Given the description of an element on the screen output the (x, y) to click on. 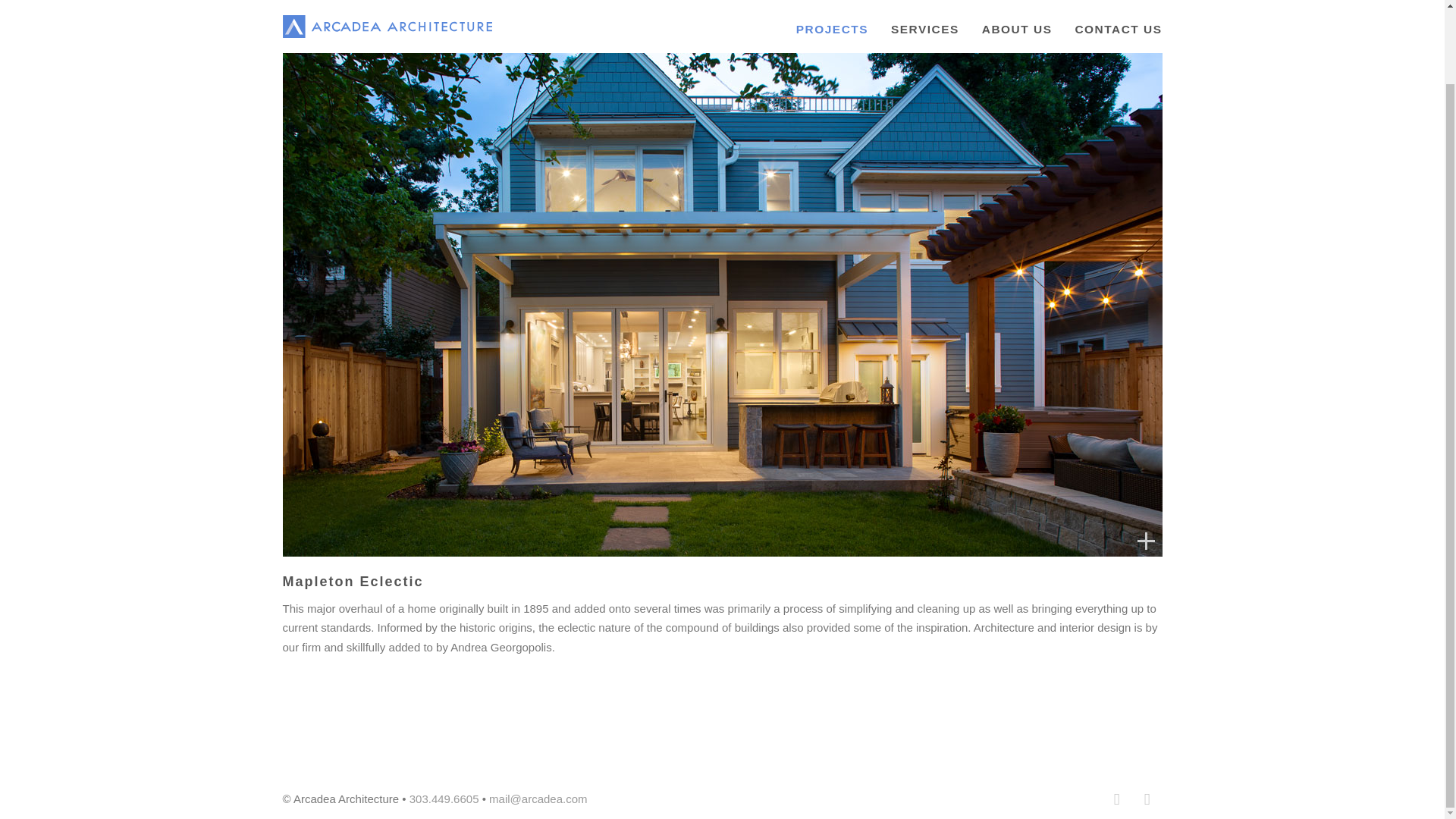
12 (782, 532)
10 (756, 532)
8 (728, 532)
5 (687, 532)
4 (673, 532)
6 (700, 532)
7 (715, 532)
1 (632, 532)
LinkedIn (1146, 798)
2 (646, 532)
